Given the description of an element on the screen output the (x, y) to click on. 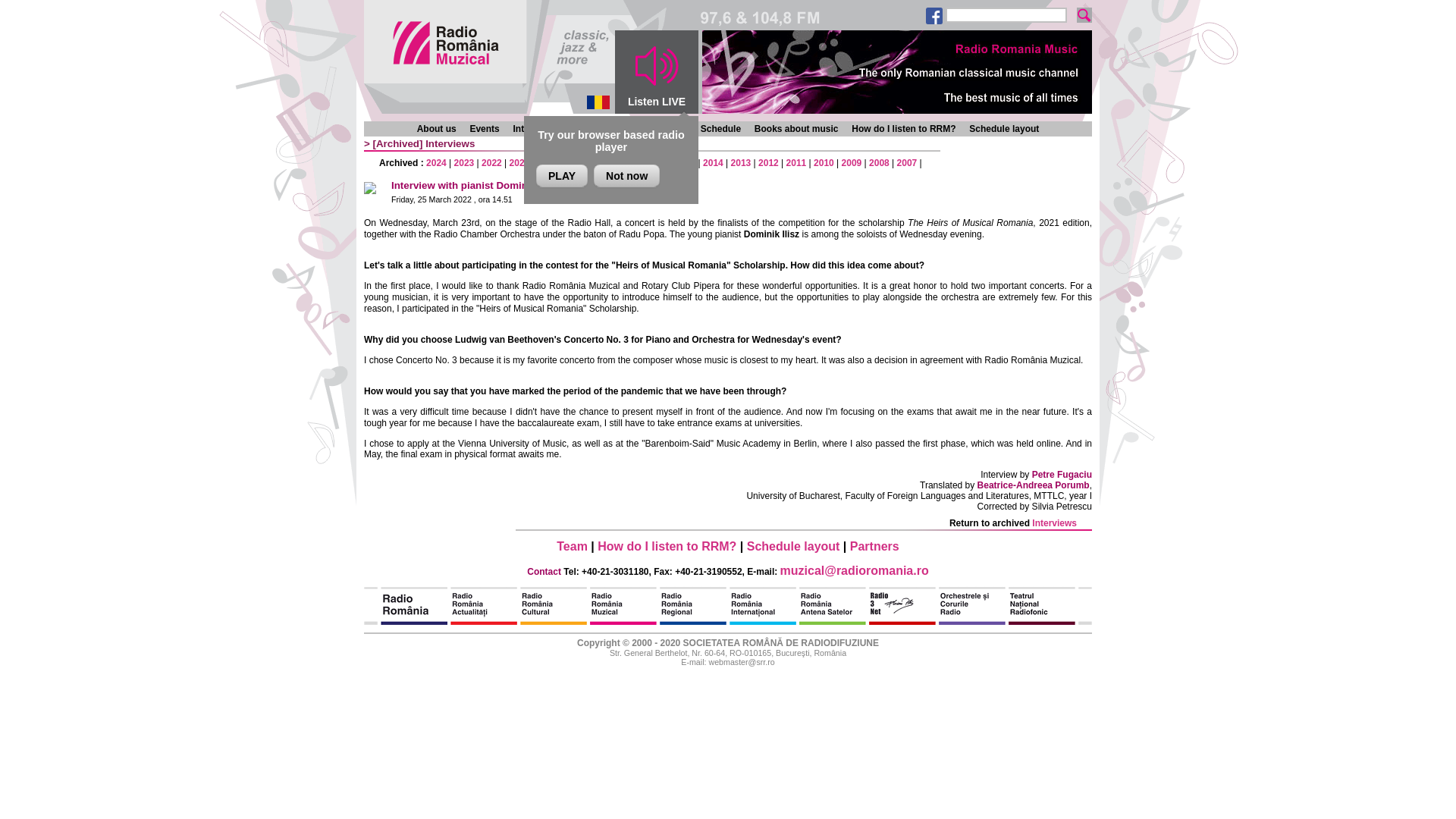
Interviews (449, 143)
2016 (657, 163)
Schedule (720, 128)
How do I listen to RRM? (666, 545)
2018 (602, 163)
2020 (547, 163)
How do I listen to RRM? (903, 128)
Chronicles (593, 128)
2017 (630, 163)
2012 (768, 163)
